Given the description of an element on the screen output the (x, y) to click on. 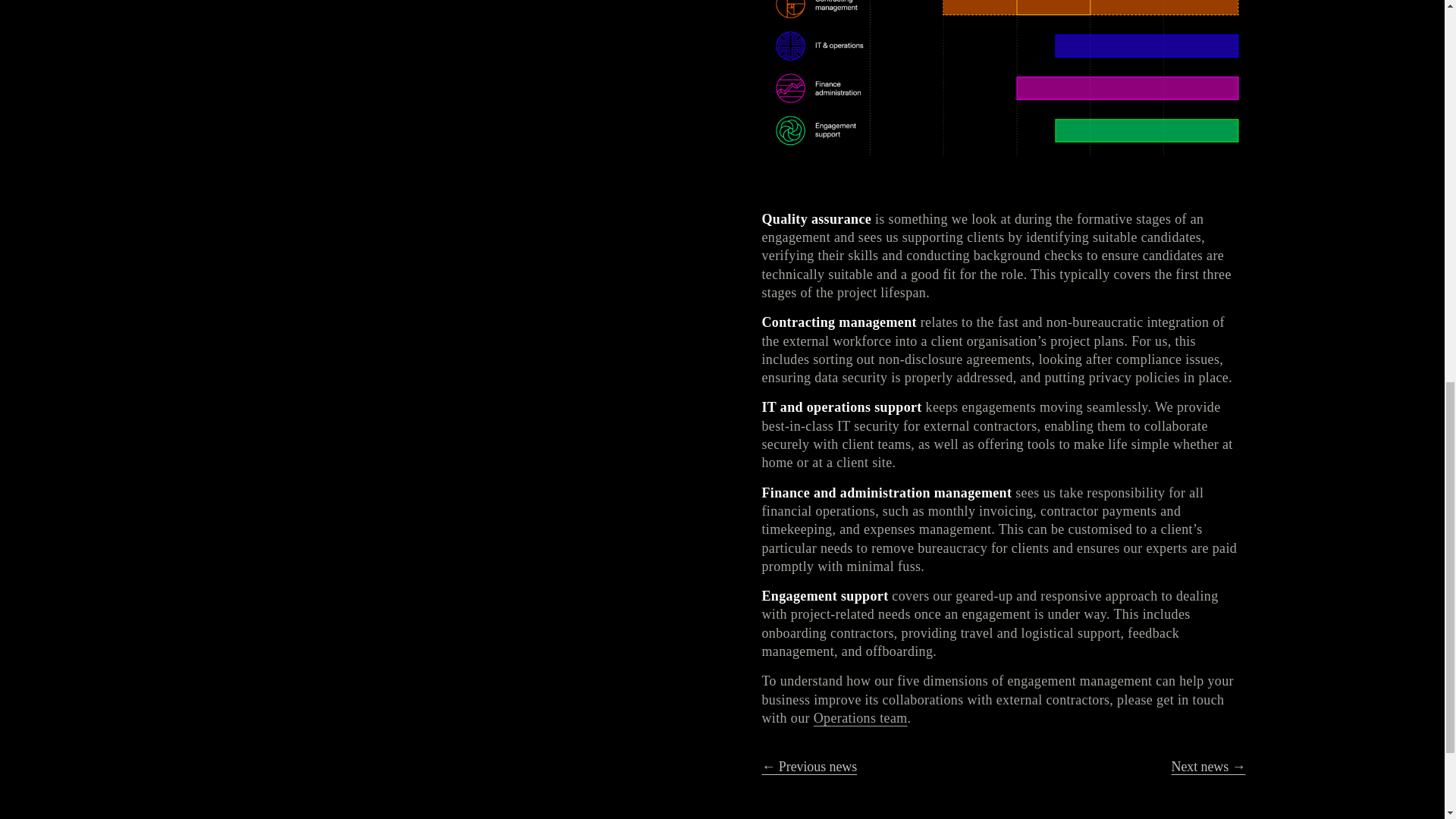
Operations team (860, 717)
